Given the description of an element on the screen output the (x, y) to click on. 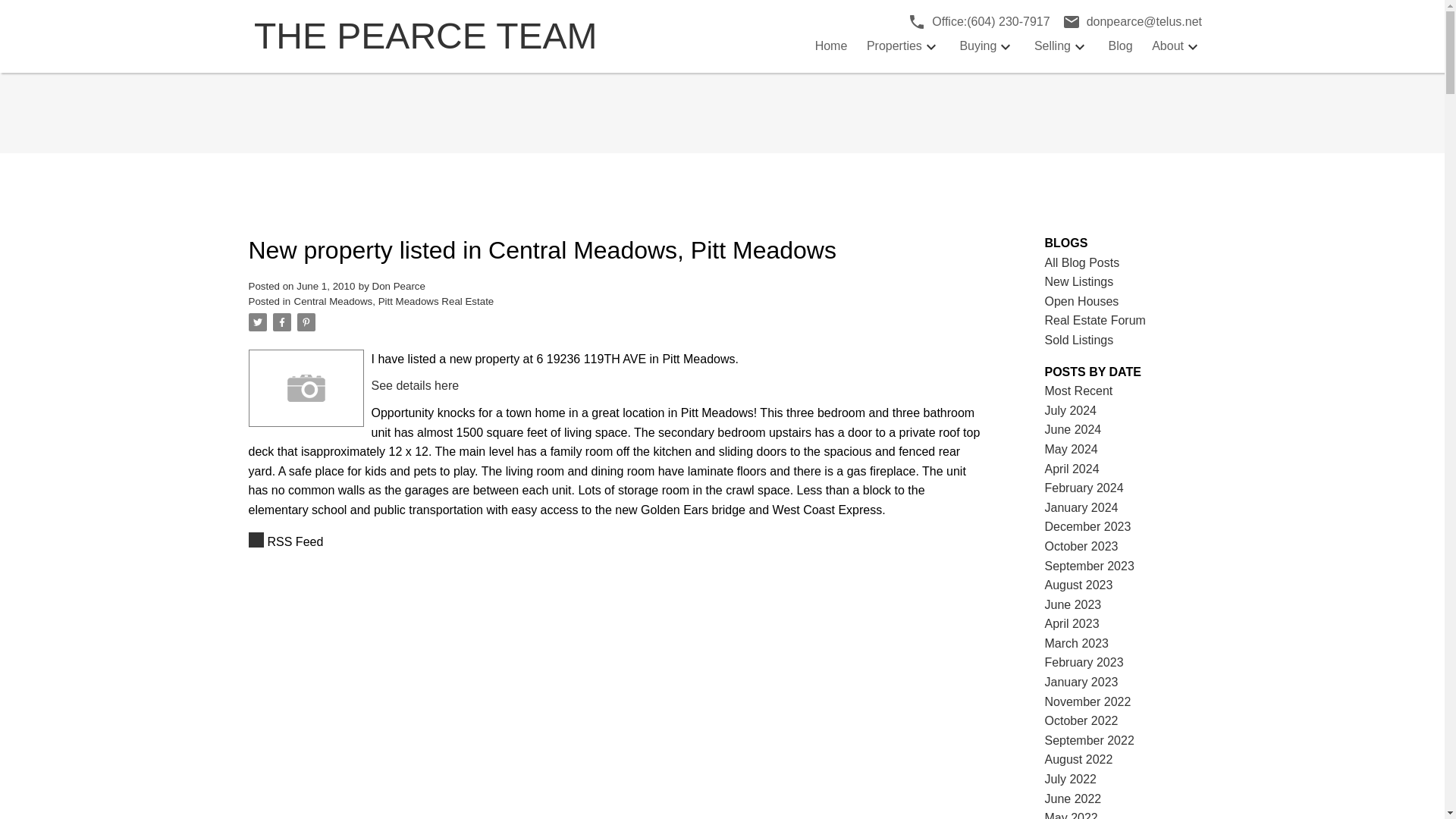
Central Meadows, Pitt Meadows Real Estate (394, 301)
RSS (616, 542)
Home (831, 46)
THE PEARCE TEAM (477, 36)
Blog (1120, 46)
